Given the description of an element on the screen output the (x, y) to click on. 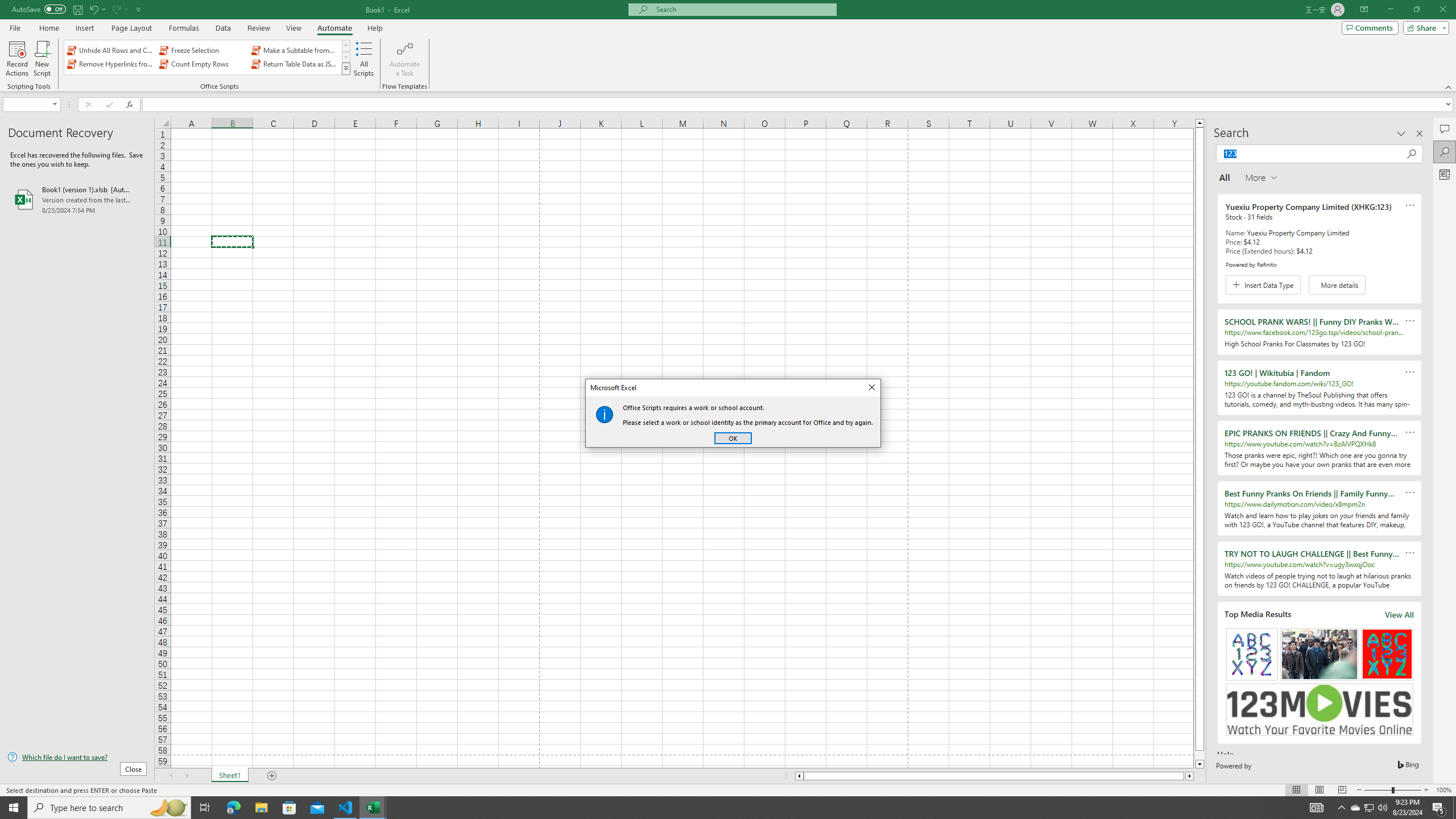
Type here to search (108, 807)
Class: Static (603, 414)
Line up (1199, 122)
All Scripts (363, 58)
View (1368, 807)
AutomationID: 4105 (293, 28)
More Options (1316, 807)
Line down (125, 9)
Freeze Selection (1199, 764)
Close (202, 50)
